Given the description of an element on the screen output the (x, y) to click on. 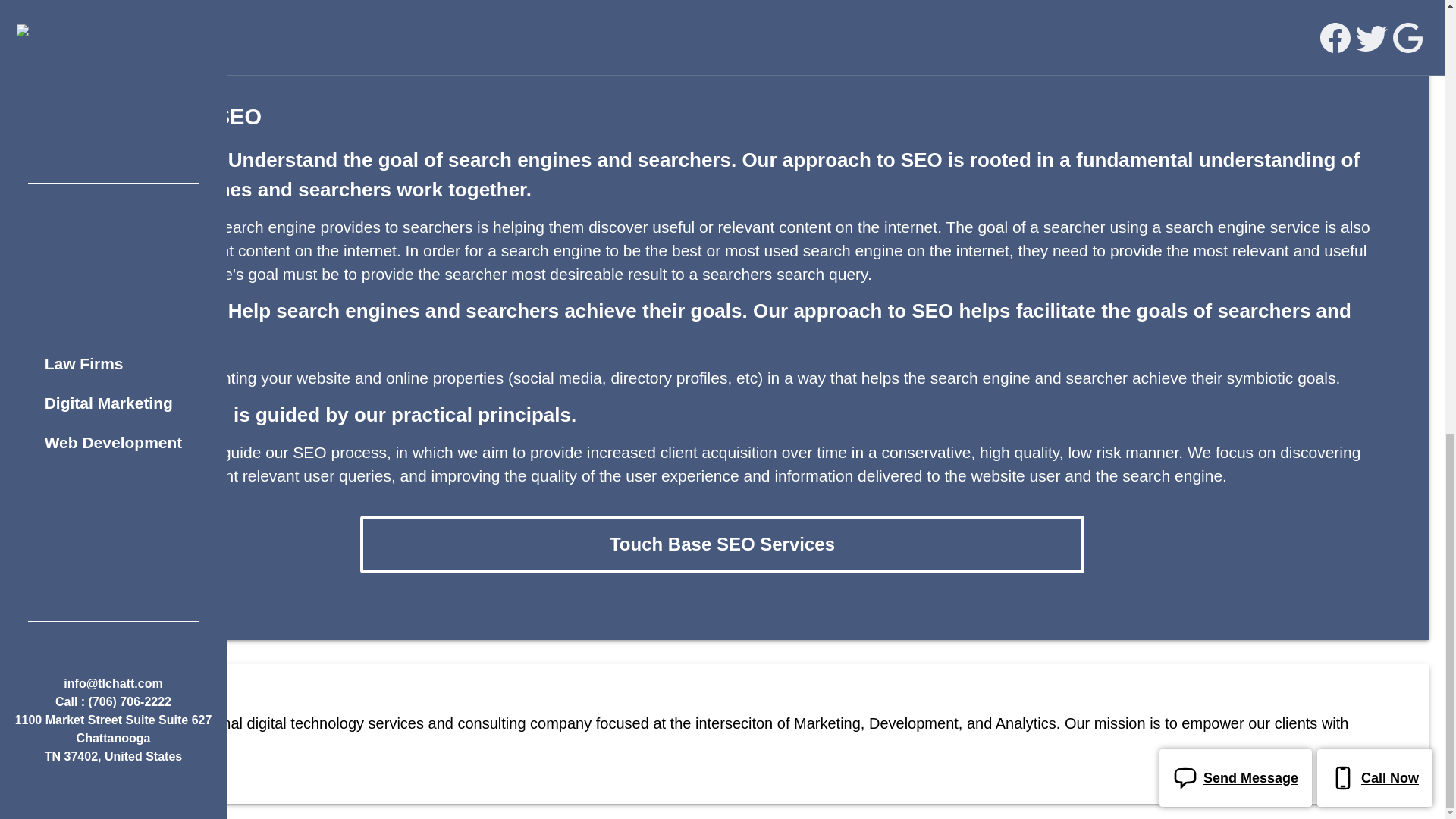
Touch Base SEO Services (721, 544)
